Given the description of an element on the screen output the (x, y) to click on. 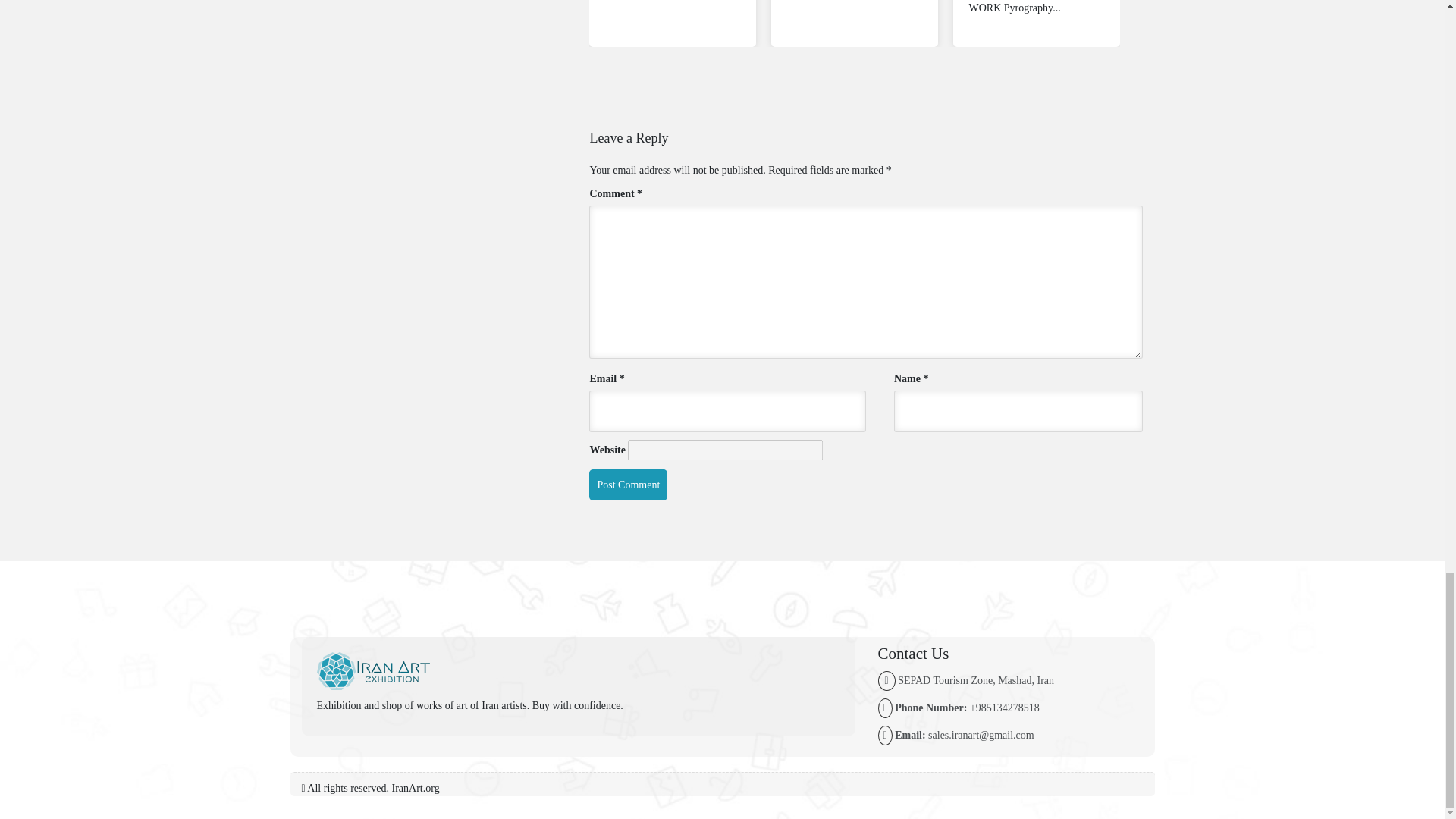
Post Comment (627, 484)
